Given the description of an element on the screen output the (x, y) to click on. 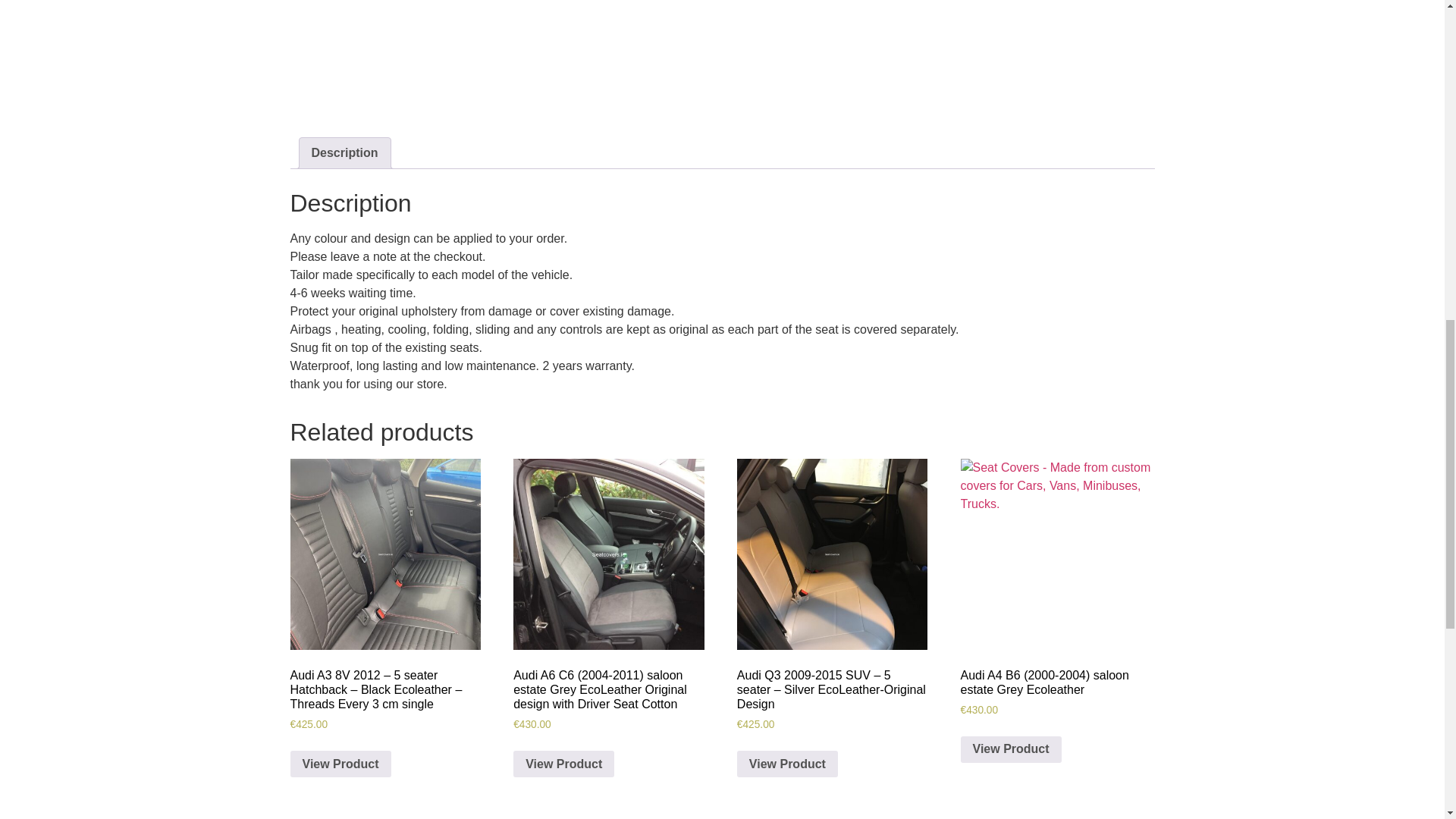
Description (344, 153)
View Product (1010, 749)
View Product (563, 764)
View Product (339, 764)
View Product (787, 764)
